Given the description of an element on the screen output the (x, y) to click on. 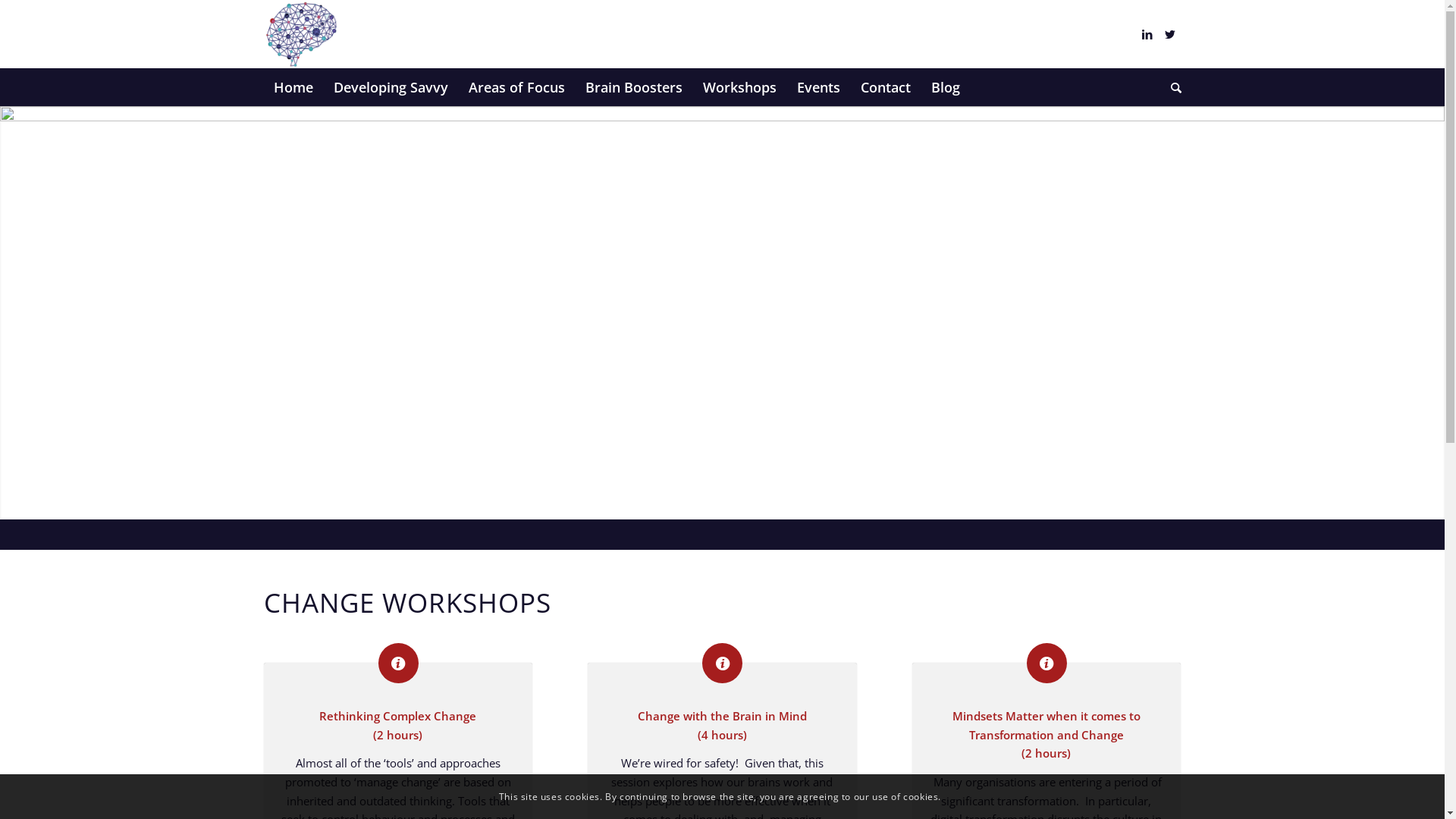
Contact Element type: text (884, 87)
Areas of Focus Element type: text (516, 87)
Workshops Element type: text (738, 87)
Twitter Element type: hover (1169, 33)
Blog Element type: text (944, 87)
Julie Presenting Element type: hover (722, 312)
Events Element type: text (817, 87)
LinkedIn Element type: hover (1146, 33)
Brain Boosters Element type: text (633, 87)
Developing Savvy Element type: text (390, 87)
Home Element type: text (293, 87)
